Given the description of an element on the screen output the (x, y) to click on. 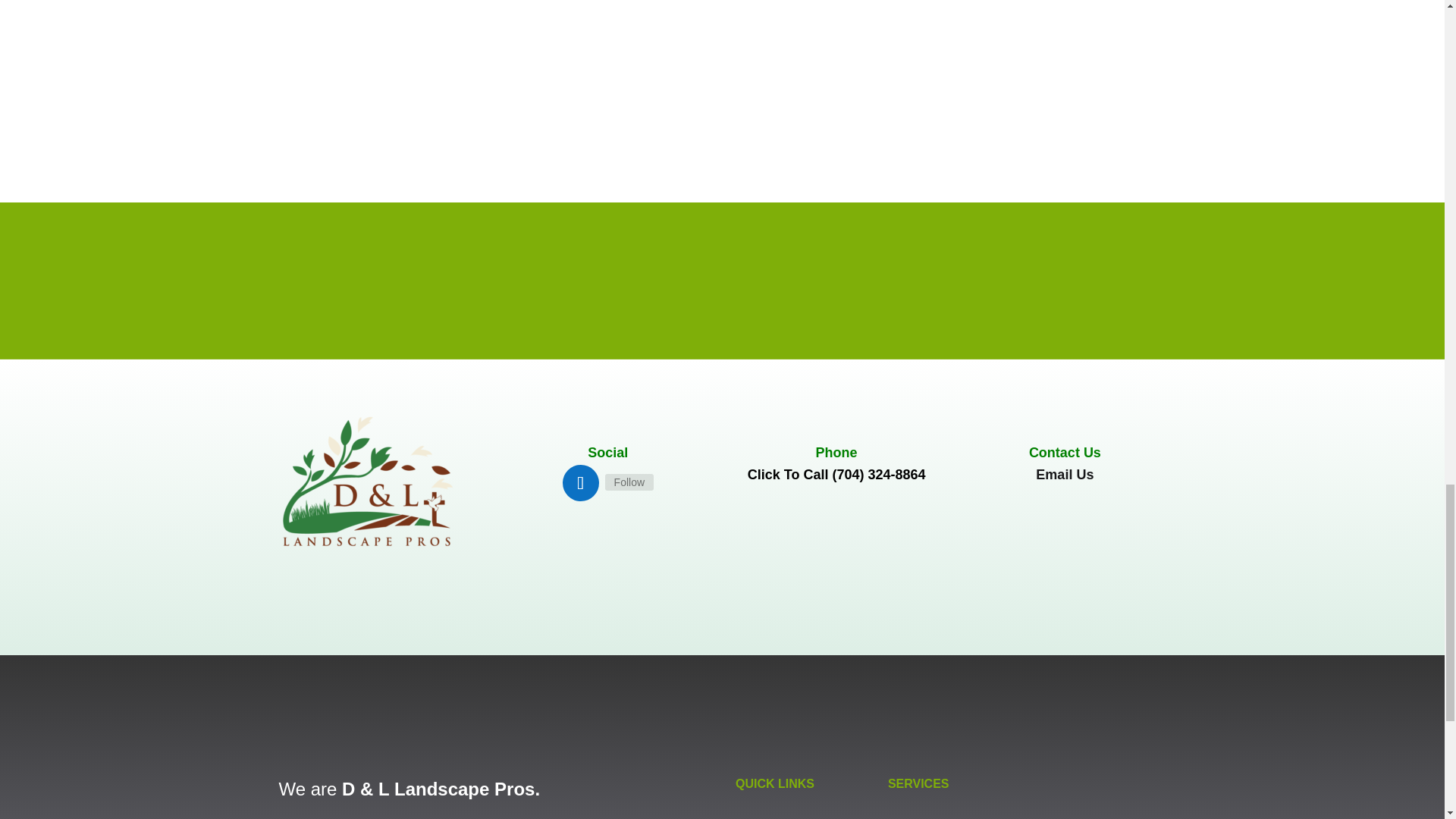
Facebook (629, 482)
Follow on Facebook (580, 483)
